Given the description of an element on the screen output the (x, y) to click on. 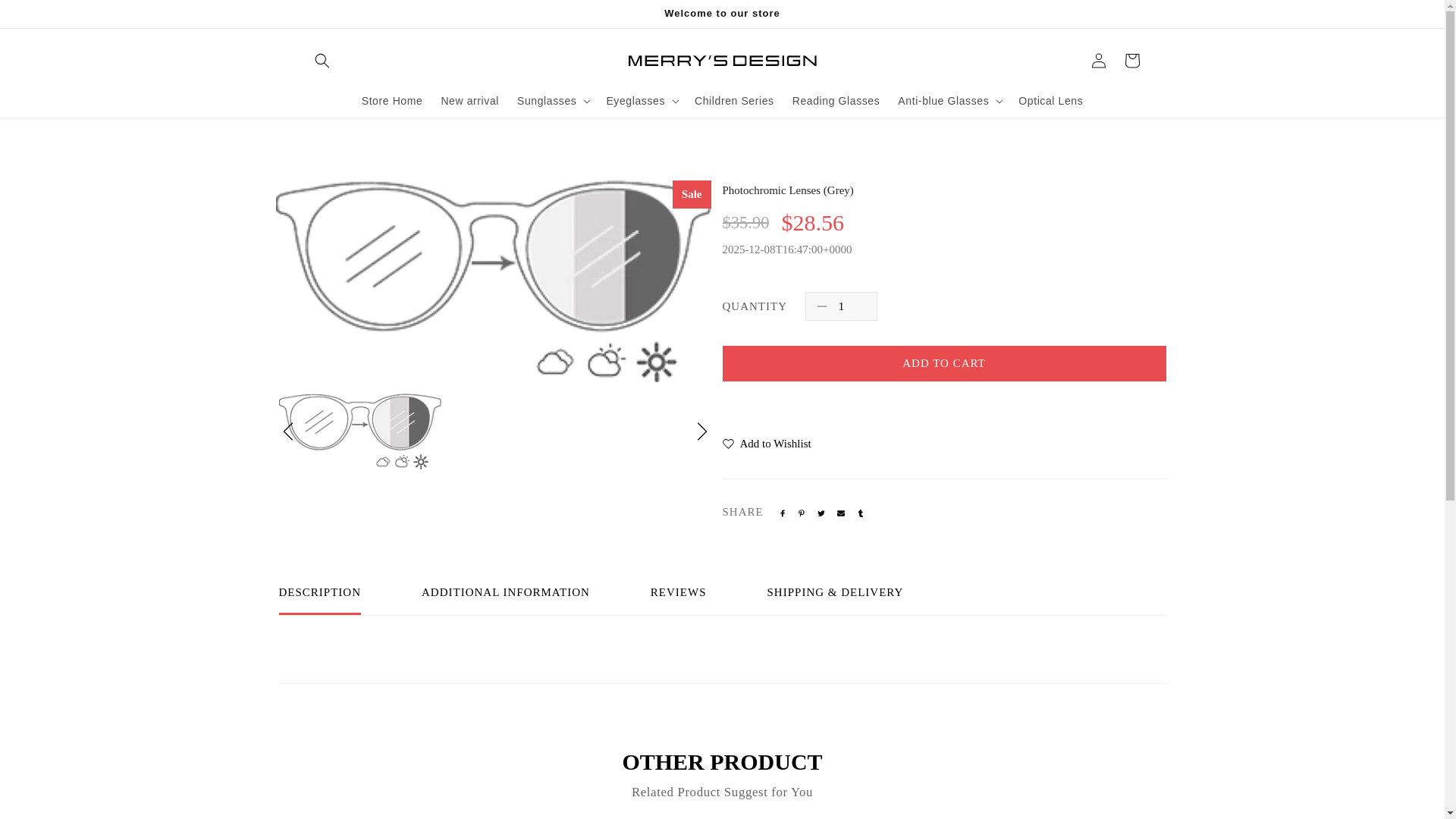
New arrival (469, 101)
Store Home (392, 101)
Skip to content (45, 16)
1 (841, 306)
